Given the description of an element on the screen output the (x, y) to click on. 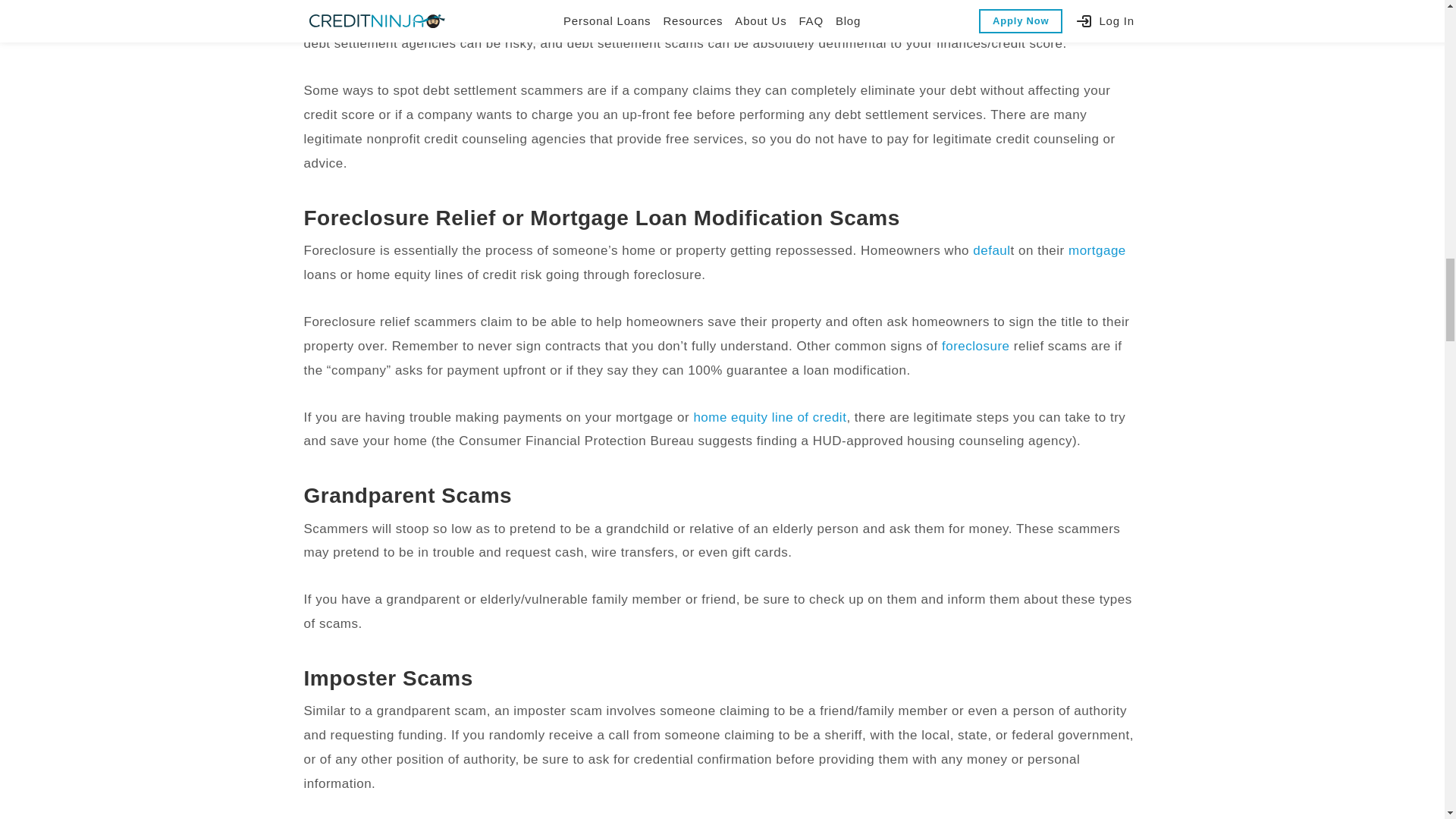
mortgage (1096, 250)
defaul (991, 250)
